Given the description of an element on the screen output the (x, y) to click on. 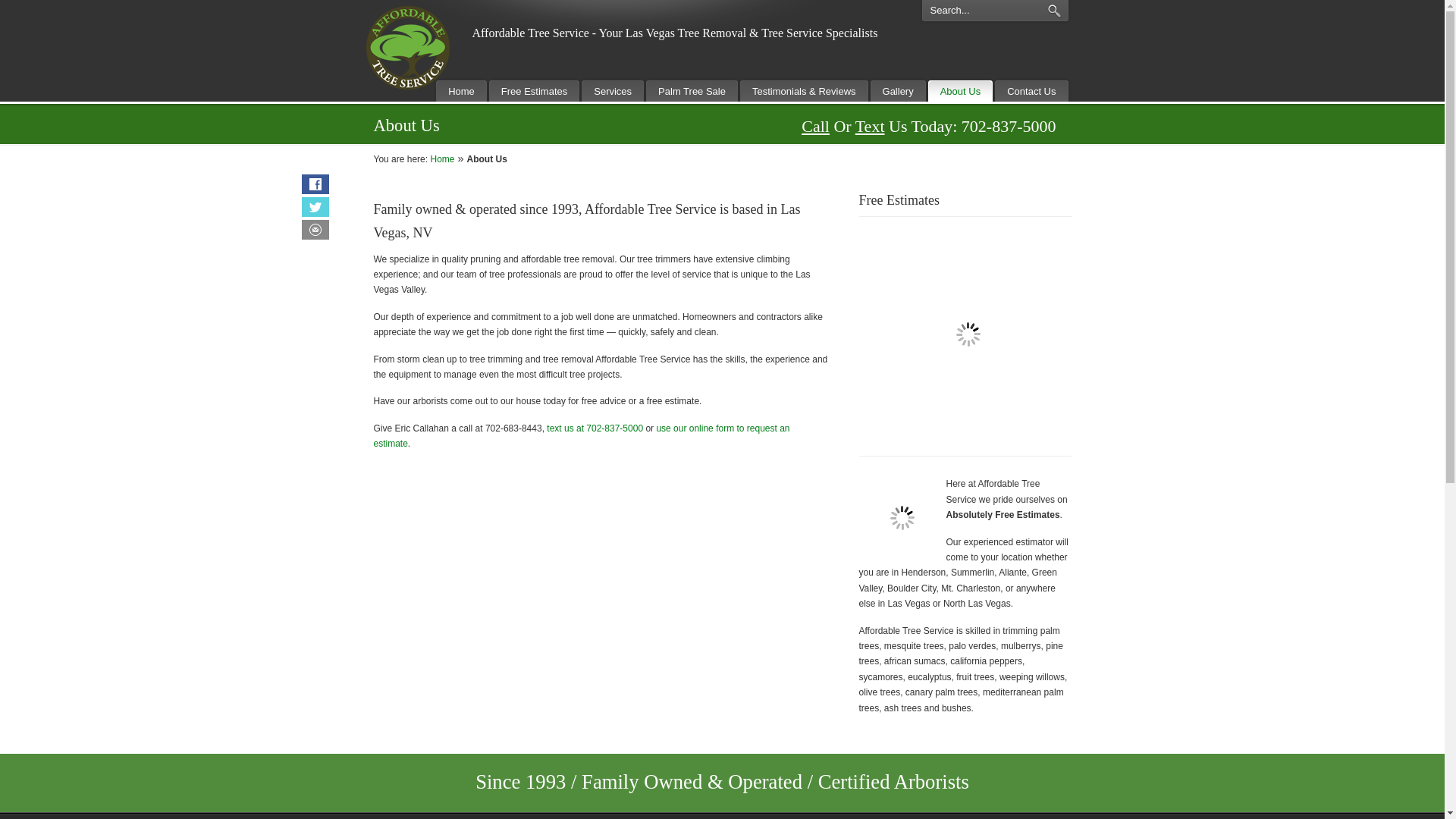
Gallery (897, 91)
use our online form to request an estimate (580, 435)
Share this article on Twitter (315, 207)
Services (612, 91)
Call (815, 126)
Search... (978, 12)
Home (460, 91)
Palm Tree Sale (692, 91)
Contact Us (1030, 91)
text us at 702-837-5000 (595, 428)
Text (870, 126)
Affordable Tree Service - Affordable Tree Service (406, 47)
Share this article on Facebook (315, 184)
Free Estimates (534, 91)
About Us (959, 91)
